Given the description of an element on the screen output the (x, y) to click on. 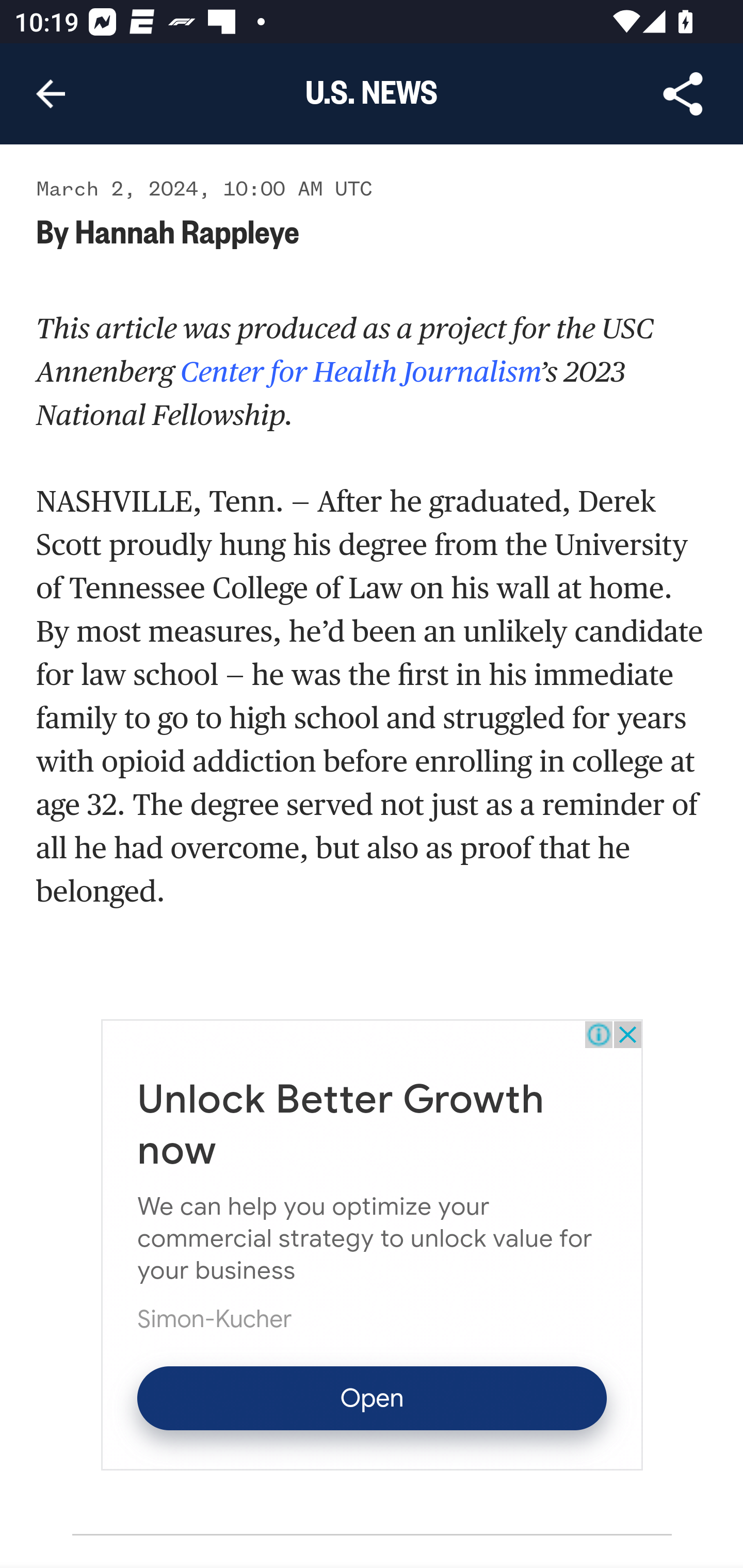
Navigate up (50, 93)
Share Article, button (683, 94)
 Center for Health Journalism (357, 372)
Unlock Better Growth now Unlock Better Growth now (341, 1126)
Simon-Kucher (214, 1320)
Open (372, 1399)
